Given the description of an element on the screen output the (x, y) to click on. 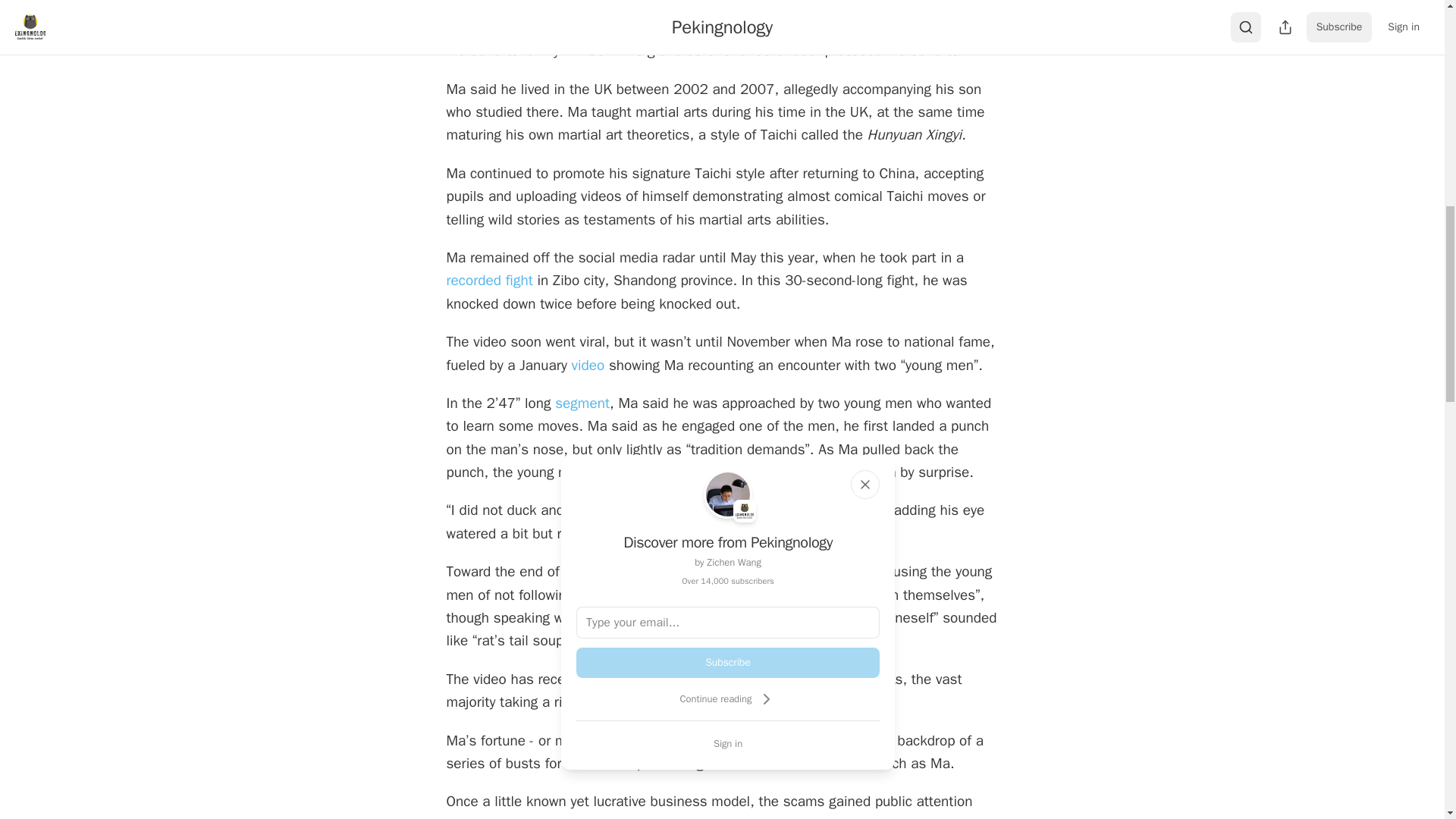
segment (582, 402)
Weibo account (788, 27)
recorded fight (488, 280)
Sign in (727, 743)
Subscribe (727, 662)
video (588, 365)
